Given the description of an element on the screen output the (x, y) to click on. 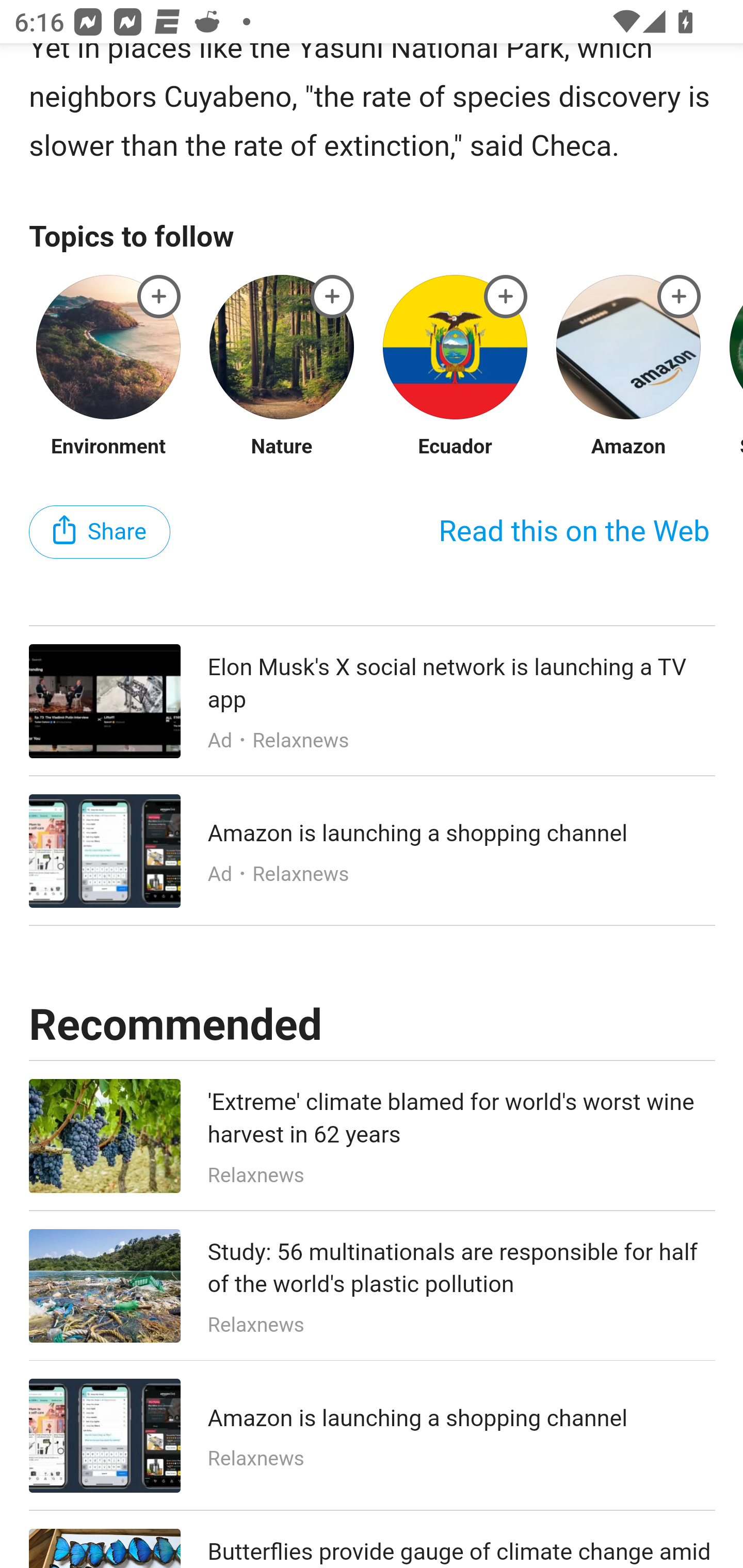
1157025764906664056 (159, 296)
1157025764906664056 (332, 296)
1157025764906664056 (505, 296)
1157025764906664056 (679, 296)
Environment (108, 447)
Nature (281, 447)
Ecuador (454, 447)
Amazon (627, 447)
Read this on the Web (573, 532)
Share (99, 532)
